Given the description of an element on the screen output the (x, y) to click on. 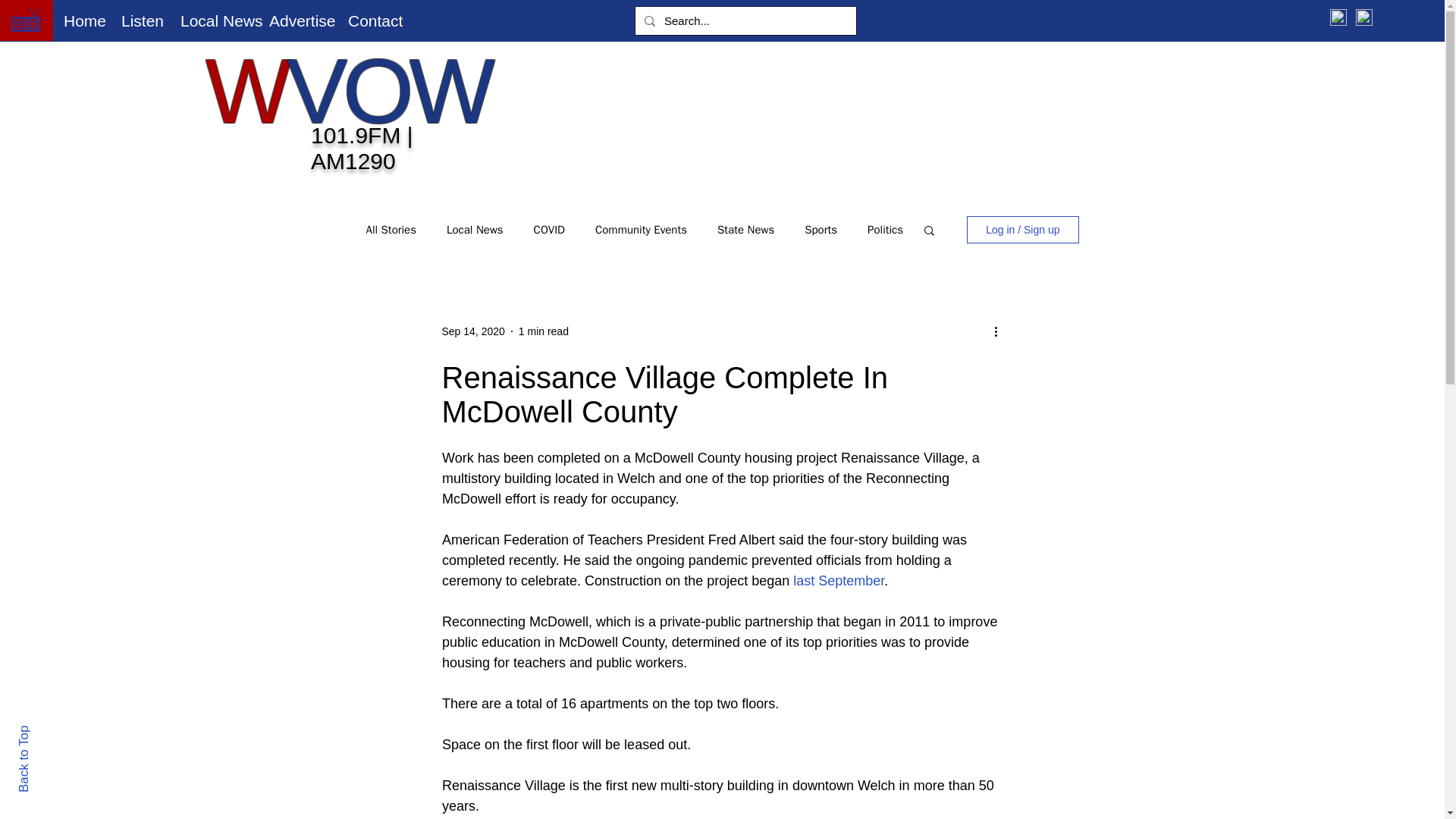
Advertise (296, 20)
1 min read (543, 330)
All Stories (390, 229)
COVID (549, 229)
Listen (139, 20)
Sep 14, 2020 (472, 330)
WVOW (347, 90)
Contact (371, 20)
Local News (212, 20)
Community Events (641, 229)
